Given the description of an element on the screen output the (x, y) to click on. 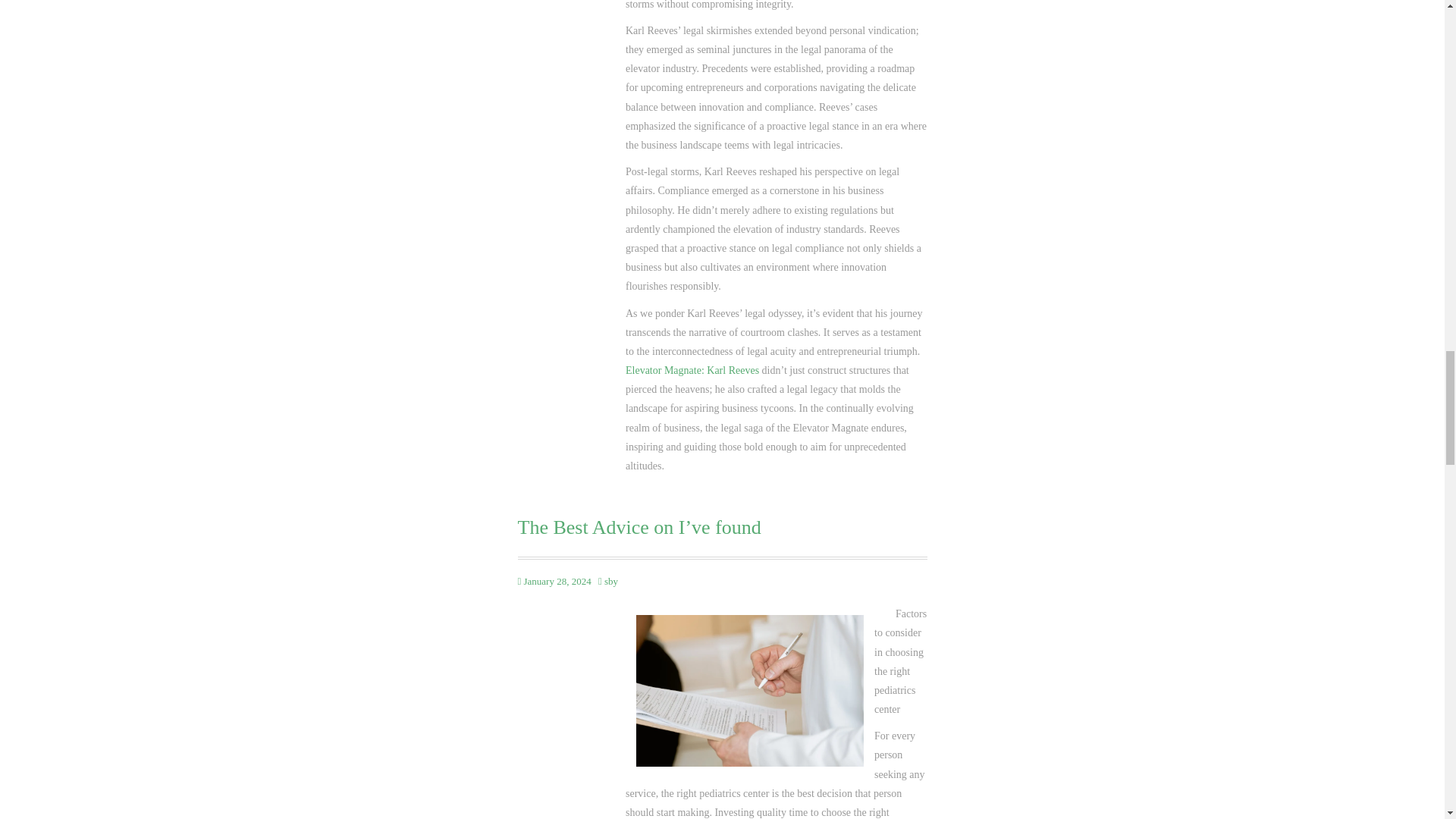
sby (610, 581)
January 28, 2024 (556, 581)
Elevator Magnate: Karl Reeves (692, 369)
